Given the description of an element on the screen output the (x, y) to click on. 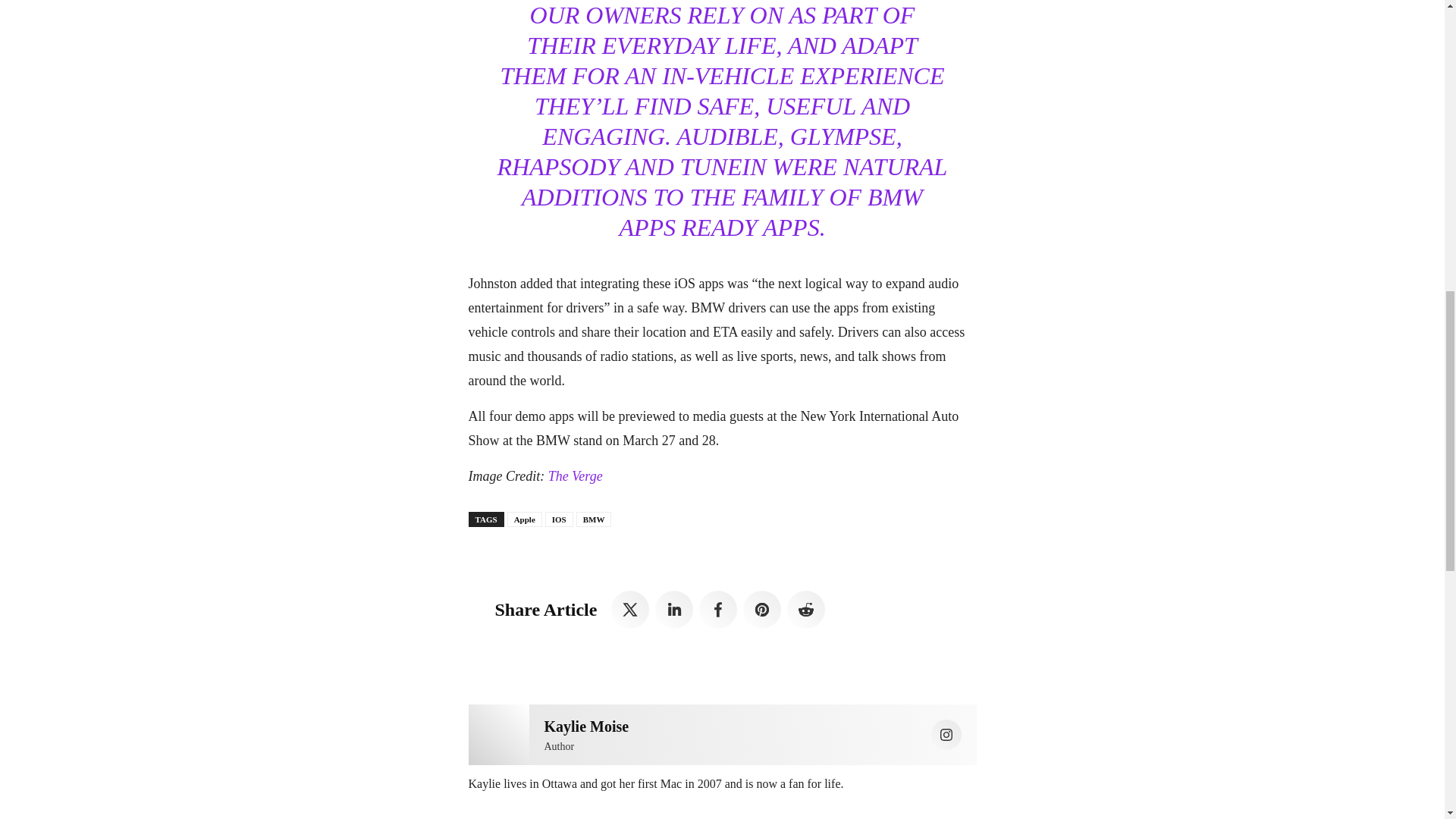
Instagram (945, 734)
Linkedin (674, 609)
Kaylie Moise (498, 734)
ReddIt (806, 609)
IOS (558, 519)
Twitter (630, 609)
BMW (593, 519)
Facebook (717, 609)
Kaylie Moise (586, 726)
The Verge (575, 476)
